Given the description of an element on the screen output the (x, y) to click on. 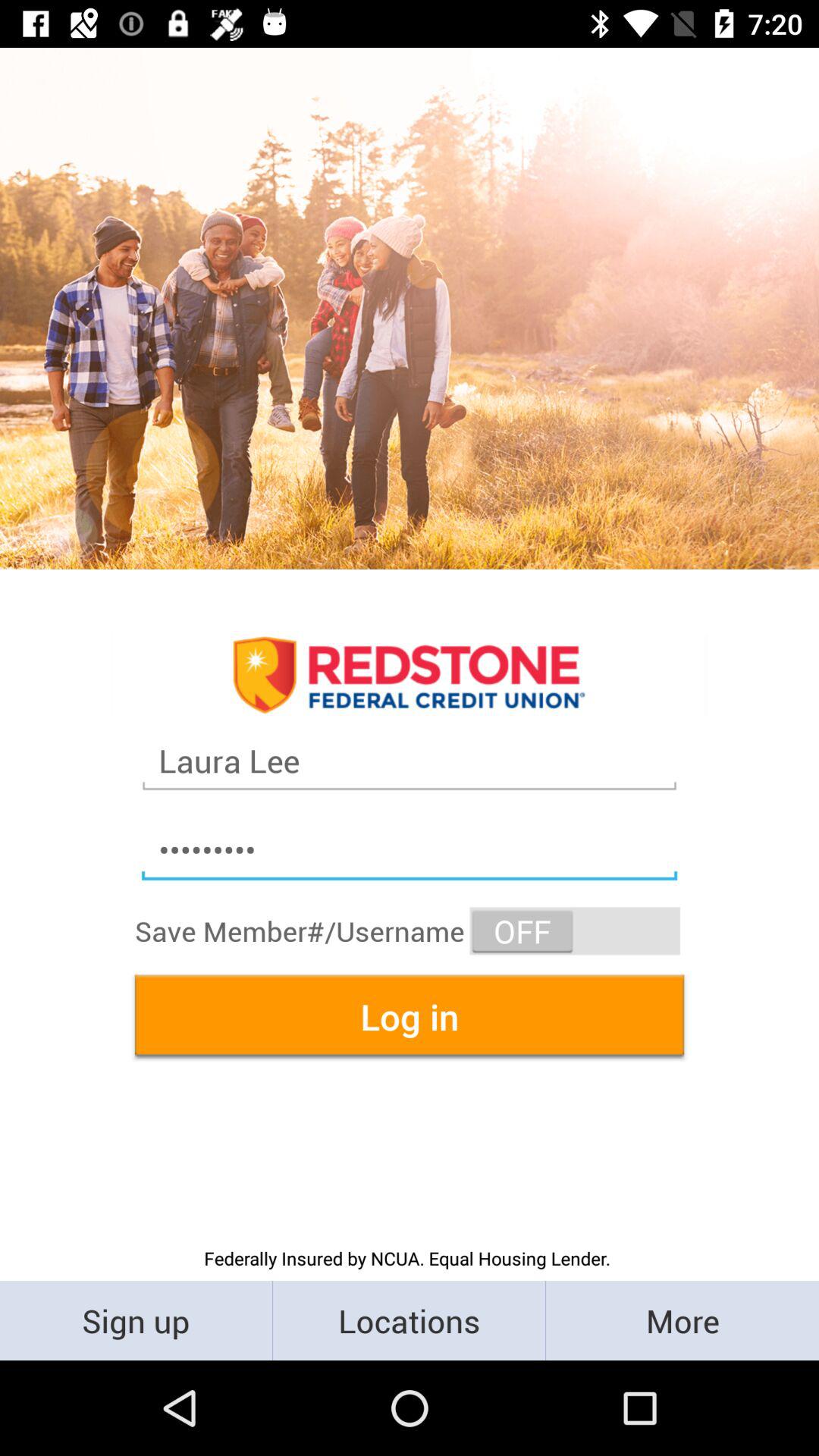
launch sign up item (136, 1320)
